Given the description of an element on the screen output the (x, y) to click on. 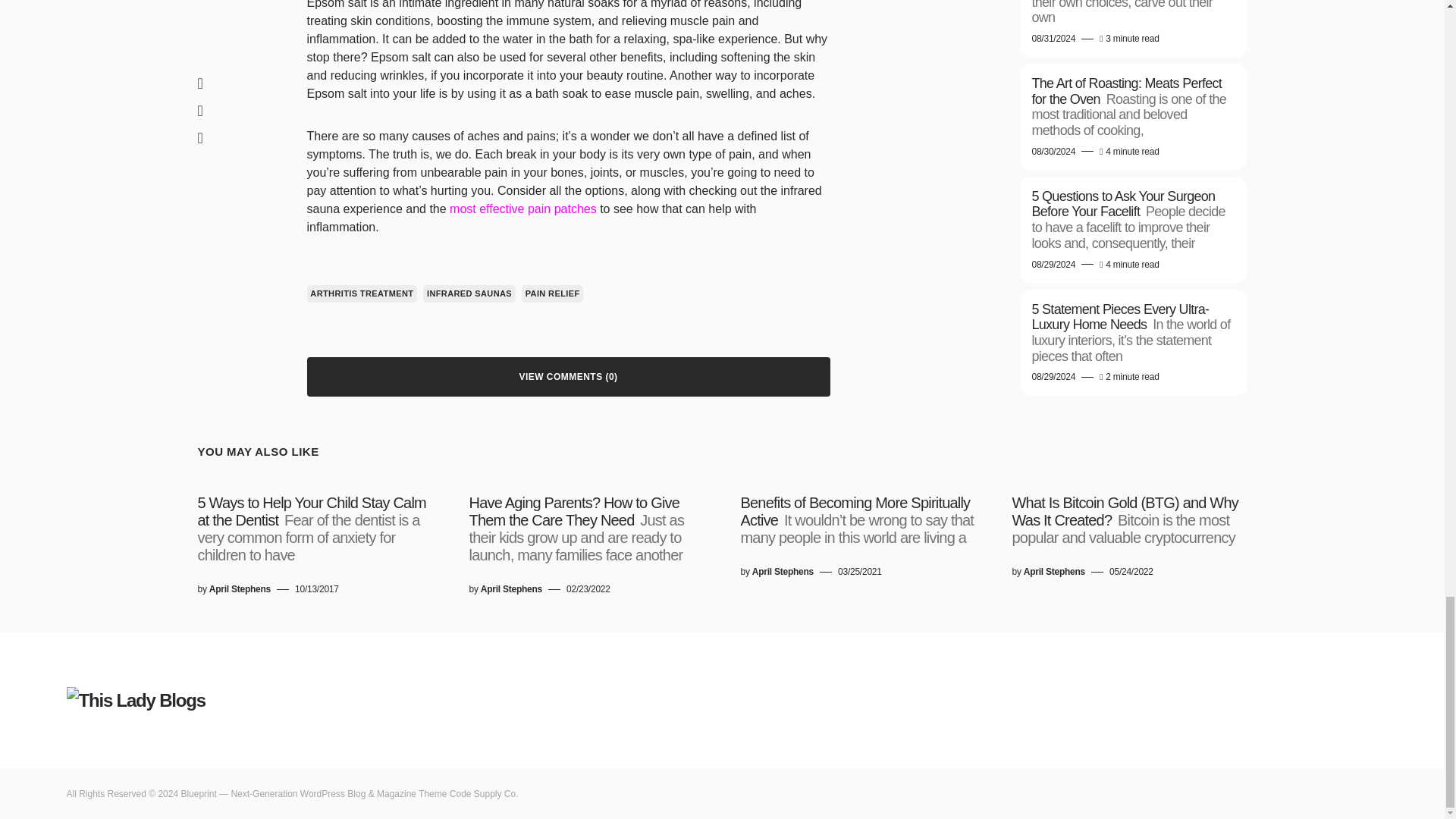
View all posts by April Stephens (510, 589)
View all posts by April Stephens (1053, 571)
View all posts by April Stephens (782, 571)
View all posts by April Stephens (239, 589)
